Given the description of an element on the screen output the (x, y) to click on. 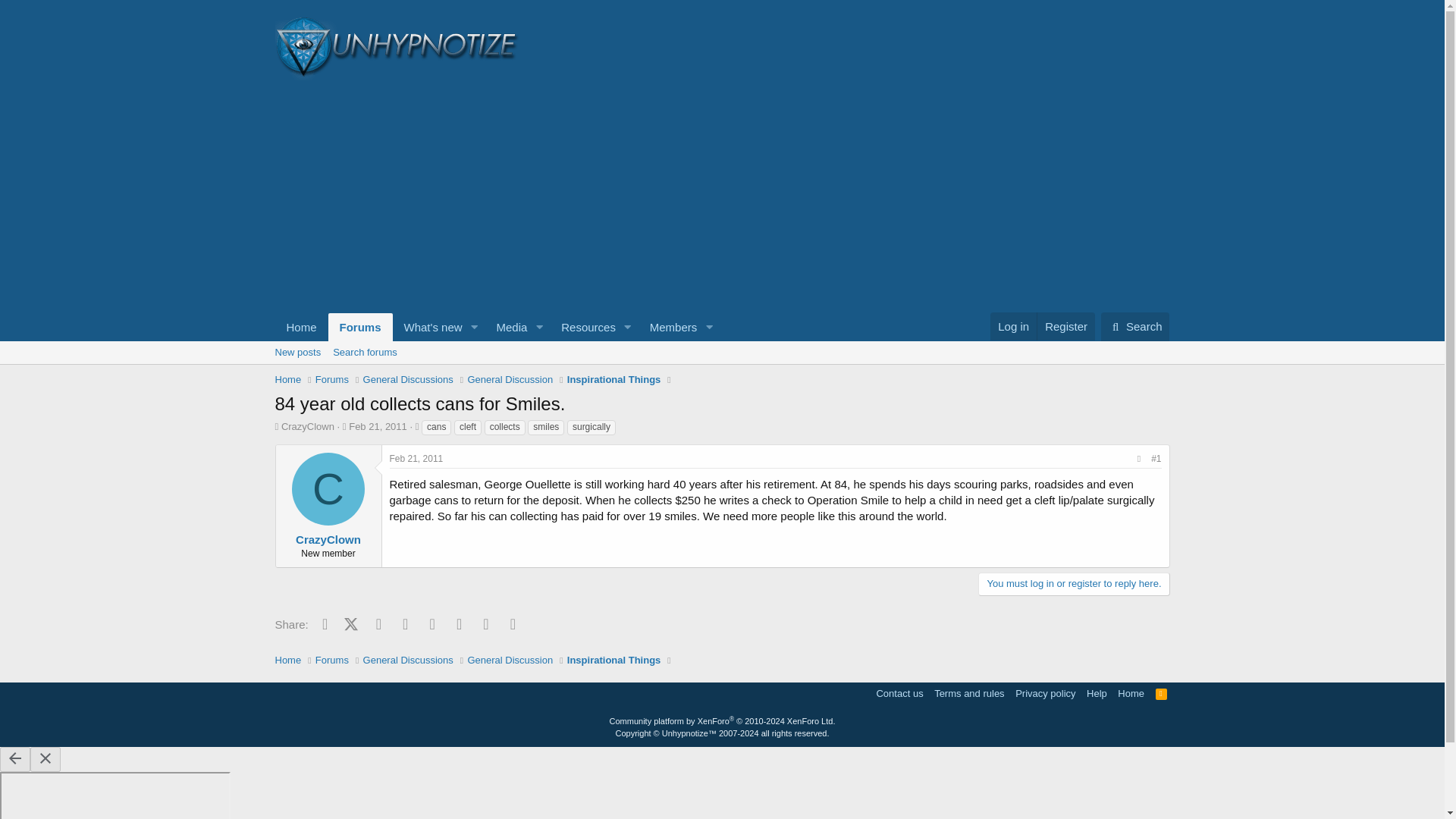
What's new (428, 326)
Resources (583, 326)
RSS (1161, 693)
Media (506, 326)
Register (1065, 326)
Forums (361, 326)
Advertisement (496, 326)
Search (720, 369)
Feb 21, 2011 at 6:48 PM (1013, 326)
Feb 21, 2011 at 6:48 PM (1135, 326)
Home (496, 343)
